Given the description of an element on the screen output the (x, y) to click on. 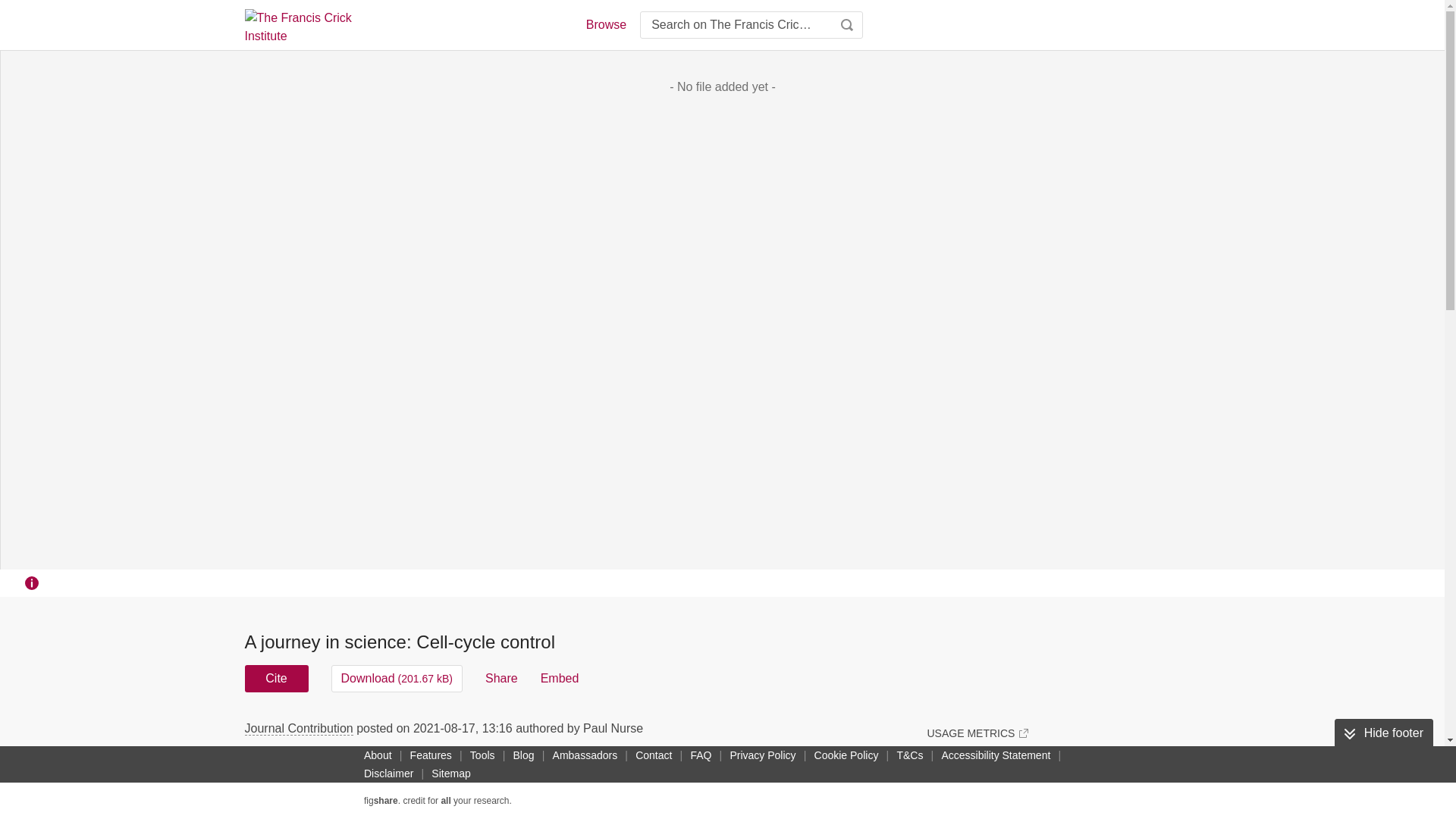
Cite (275, 678)
Share (501, 678)
Browse (605, 24)
Embed (559, 678)
USAGE METRICS (976, 732)
